Given the description of an element on the screen output the (x, y) to click on. 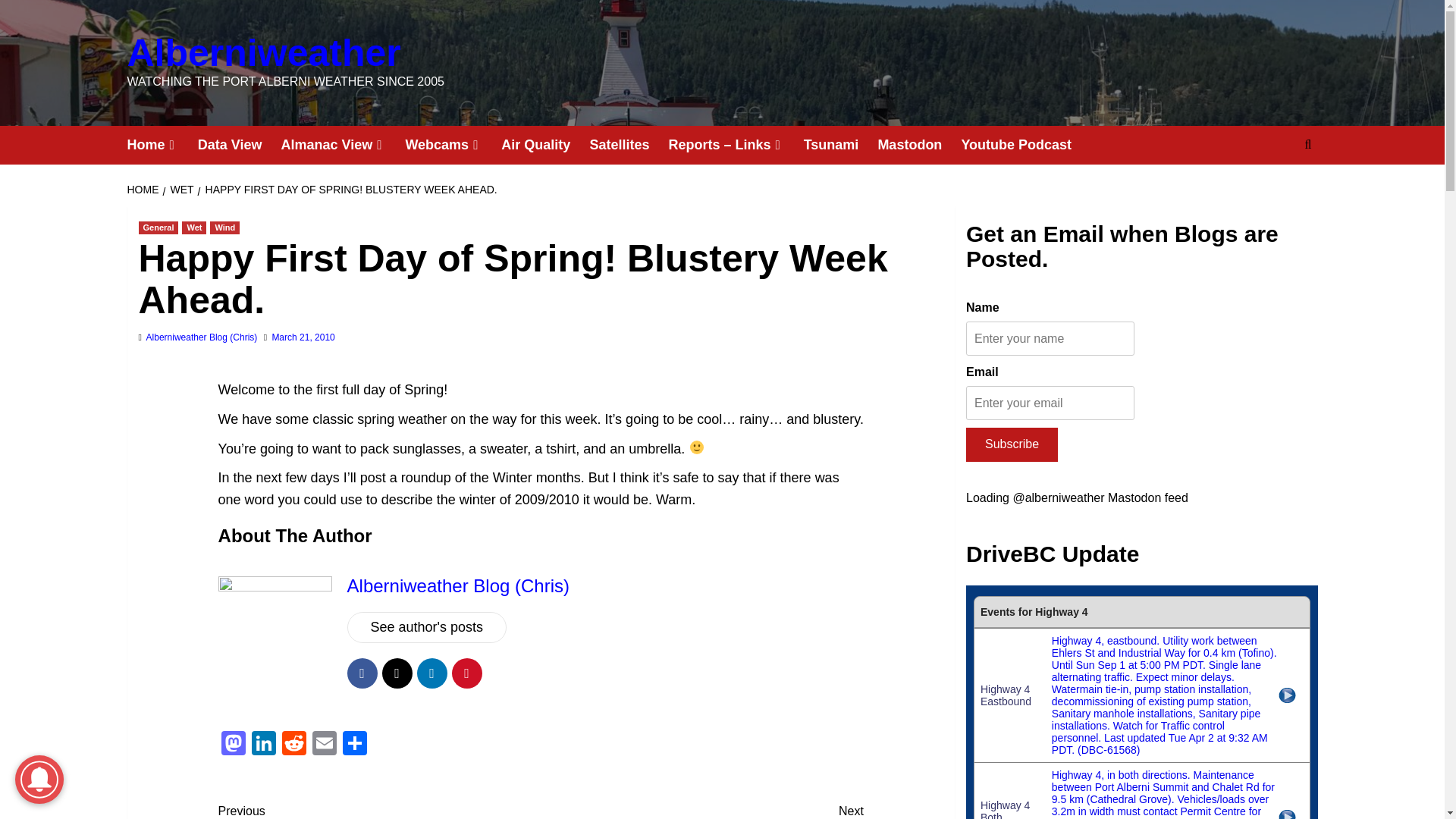
Air Quality (544, 145)
Data View (239, 145)
LinkedIn (263, 745)
Satellites (628, 145)
BC Highway 4 (1141, 702)
Webcams (452, 145)
Subscribe (1012, 444)
Home (163, 145)
Email (323, 745)
Alberniweather (264, 52)
Reddit (293, 745)
Almanac View (342, 145)
Mastodon (233, 745)
